Given the description of an element on the screen output the (x, y) to click on. 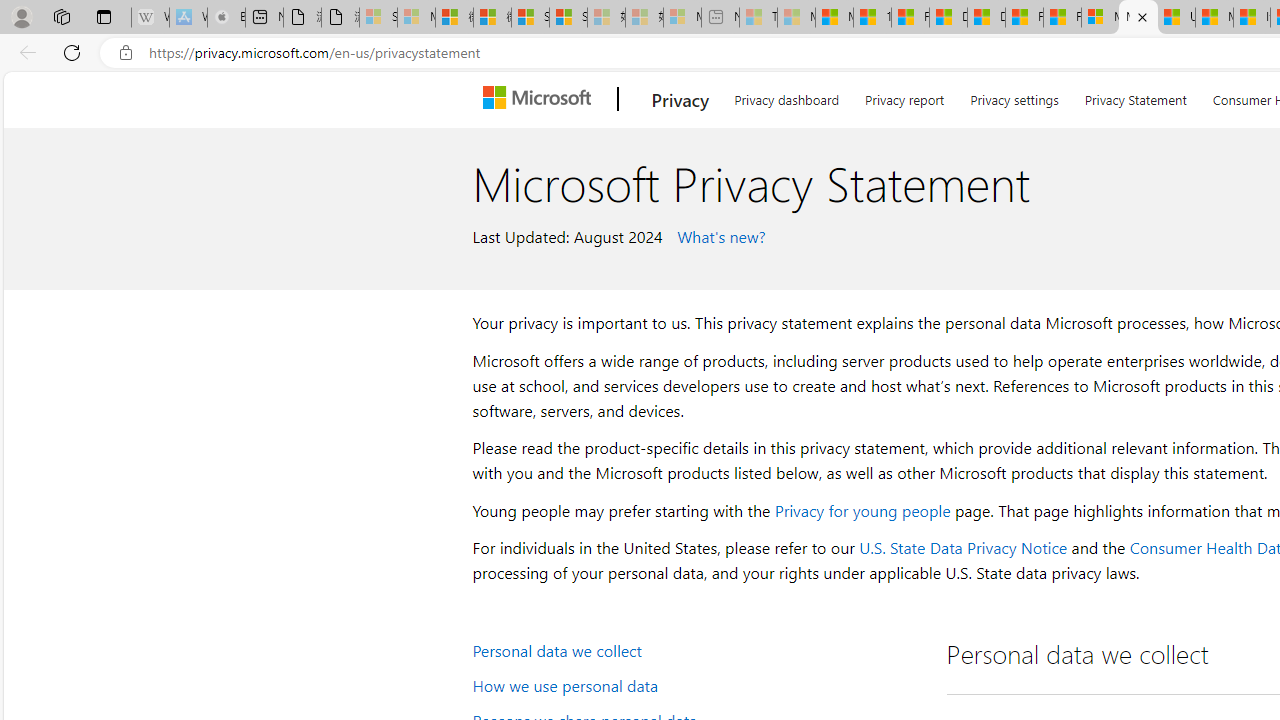
Privacy dashboard (786, 96)
Wikipedia - Sleeping (149, 17)
Foo BAR | Trusted Community Engagement and Contributions (1062, 17)
How we use personal data (696, 684)
Privacy Statement (1135, 96)
Top Stories - MSN - Sleeping (757, 17)
Privacy Statement (1135, 96)
Drinking tea every day is proven to delay biological aging (985, 17)
Privacy report (904, 96)
US Heat Deaths Soared To Record High Last Year (1176, 17)
New tab - Sleeping (719, 17)
